Given the description of an element on the screen output the (x, y) to click on. 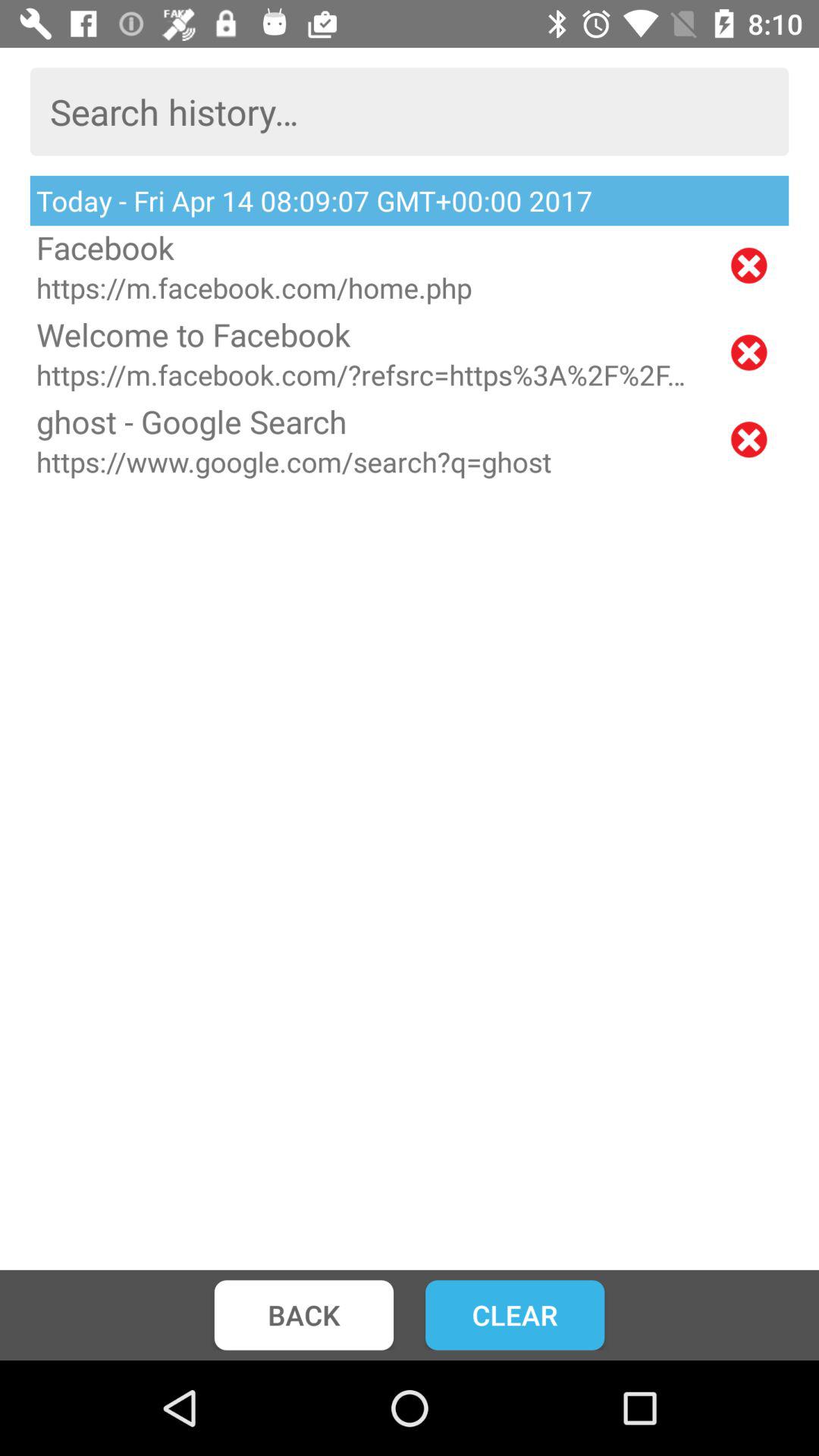
select item below the https www google item (514, 1315)
